Given the description of an element on the screen output the (x, y) to click on. 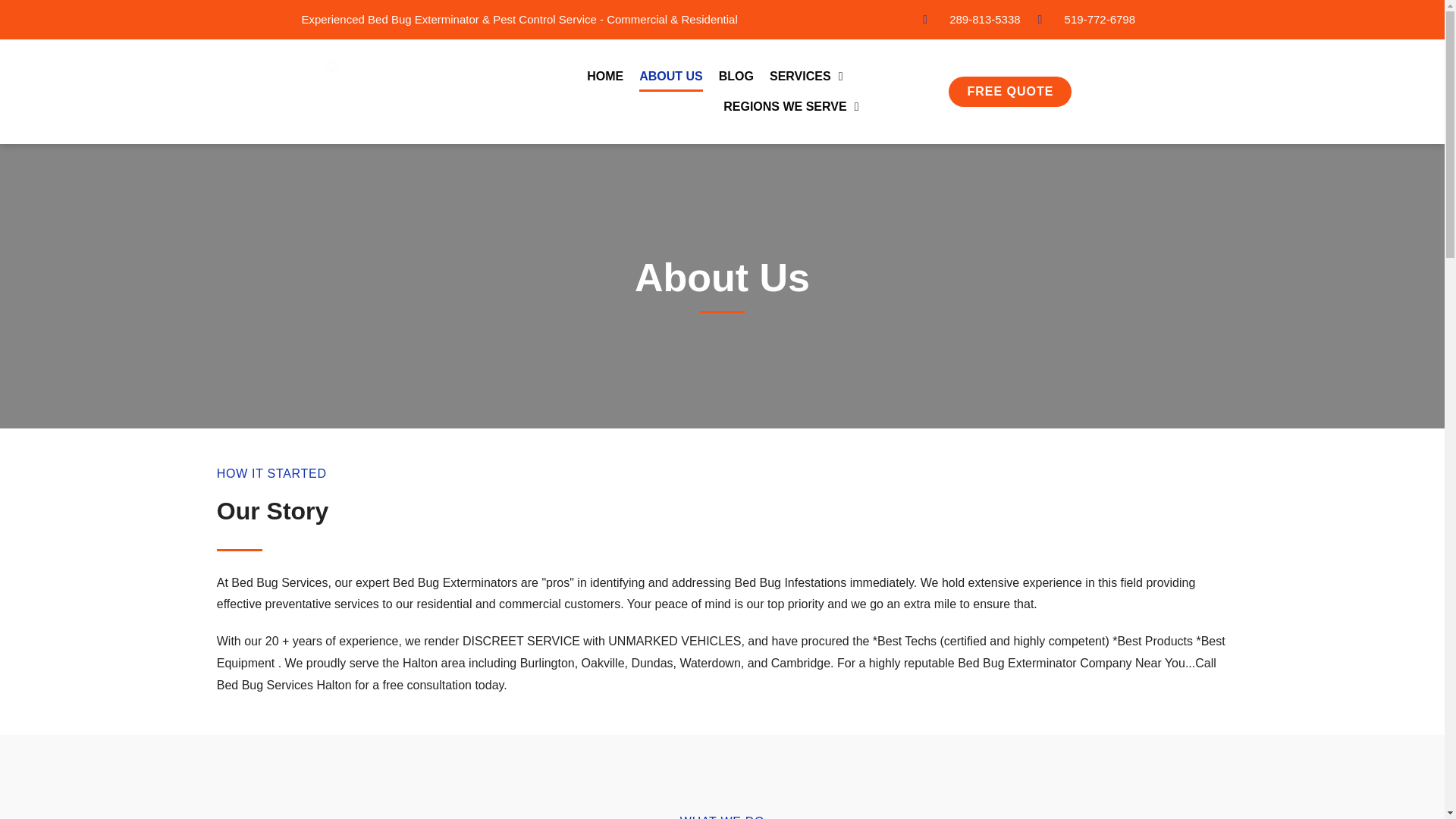
REGIONS WE SERVE (791, 106)
ABOUT US (671, 76)
SERVICES (806, 76)
289-813-5338 (971, 19)
BLOG (736, 76)
519-772-6798 (1086, 19)
HOME (604, 76)
FREE QUOTE (1010, 91)
